Given the description of an element on the screen output the (x, y) to click on. 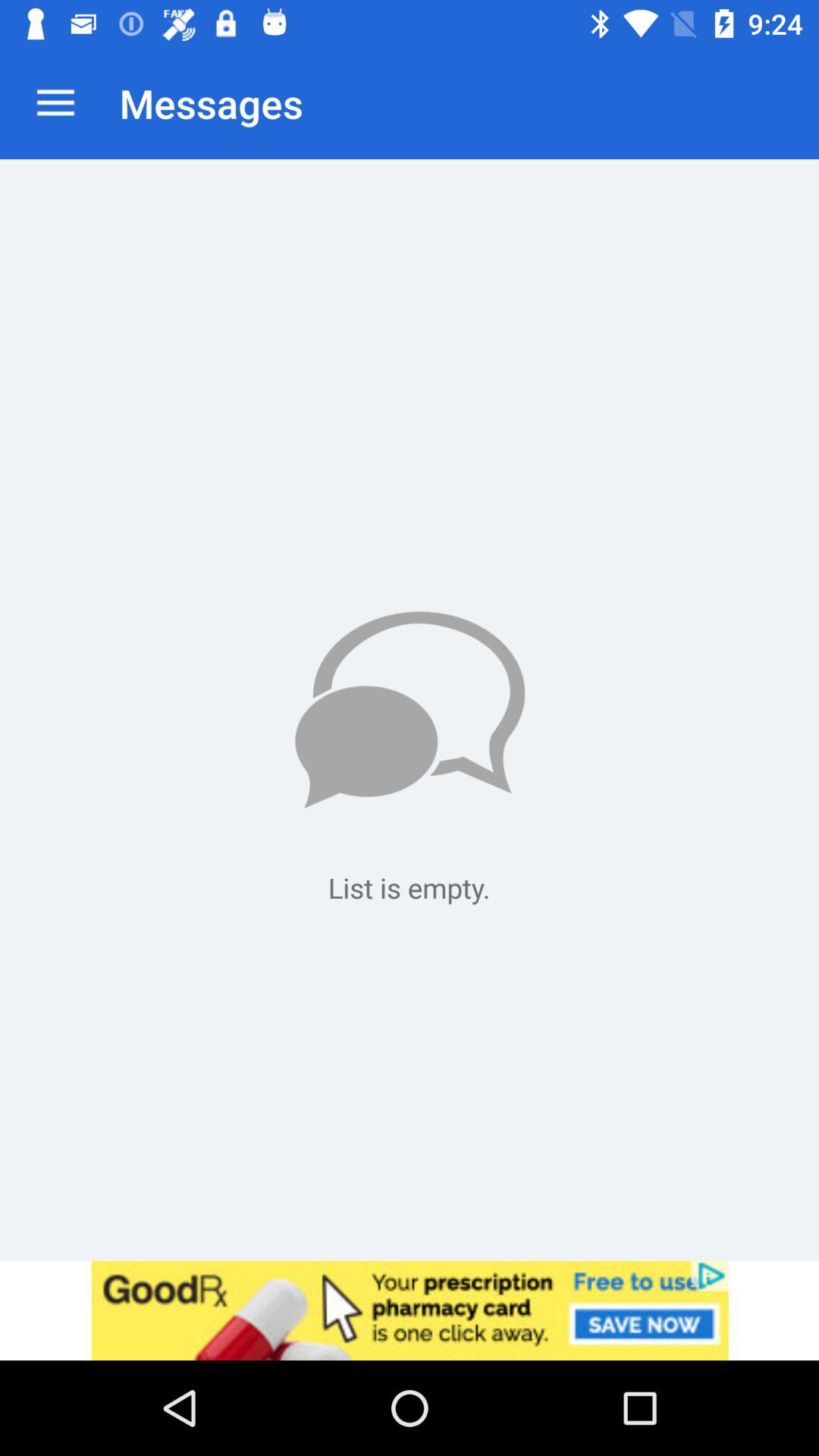
for addvertisement (409, 1310)
